Given the description of an element on the screen output the (x, y) to click on. 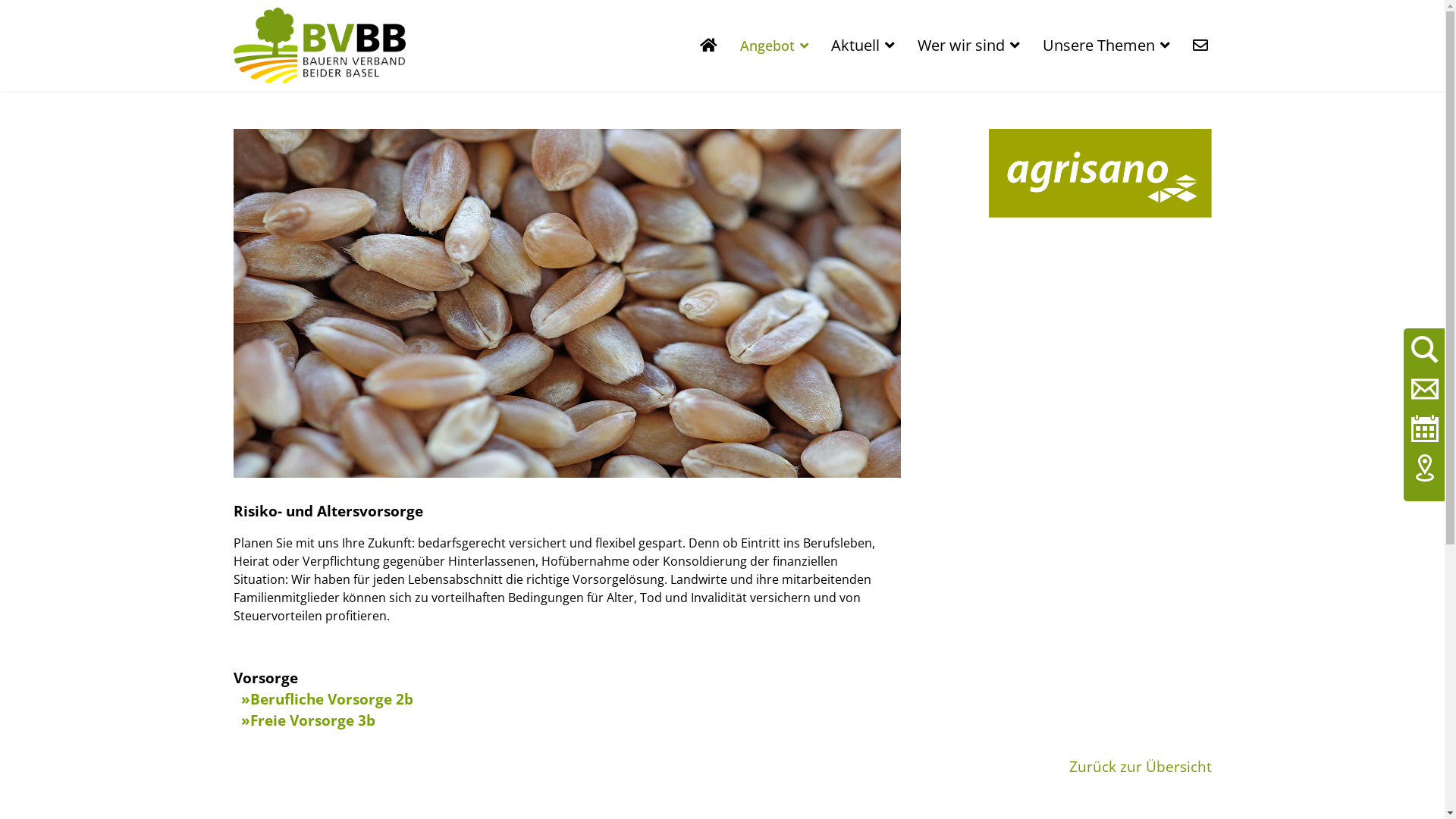
Unsere Themen Element type: text (1106, 45)
Angebot Element type: text (773, 45)
Aktuell Element type: text (862, 45)
Wer wir sind Element type: text (967, 45)
